Given the description of an element on the screen output the (x, y) to click on. 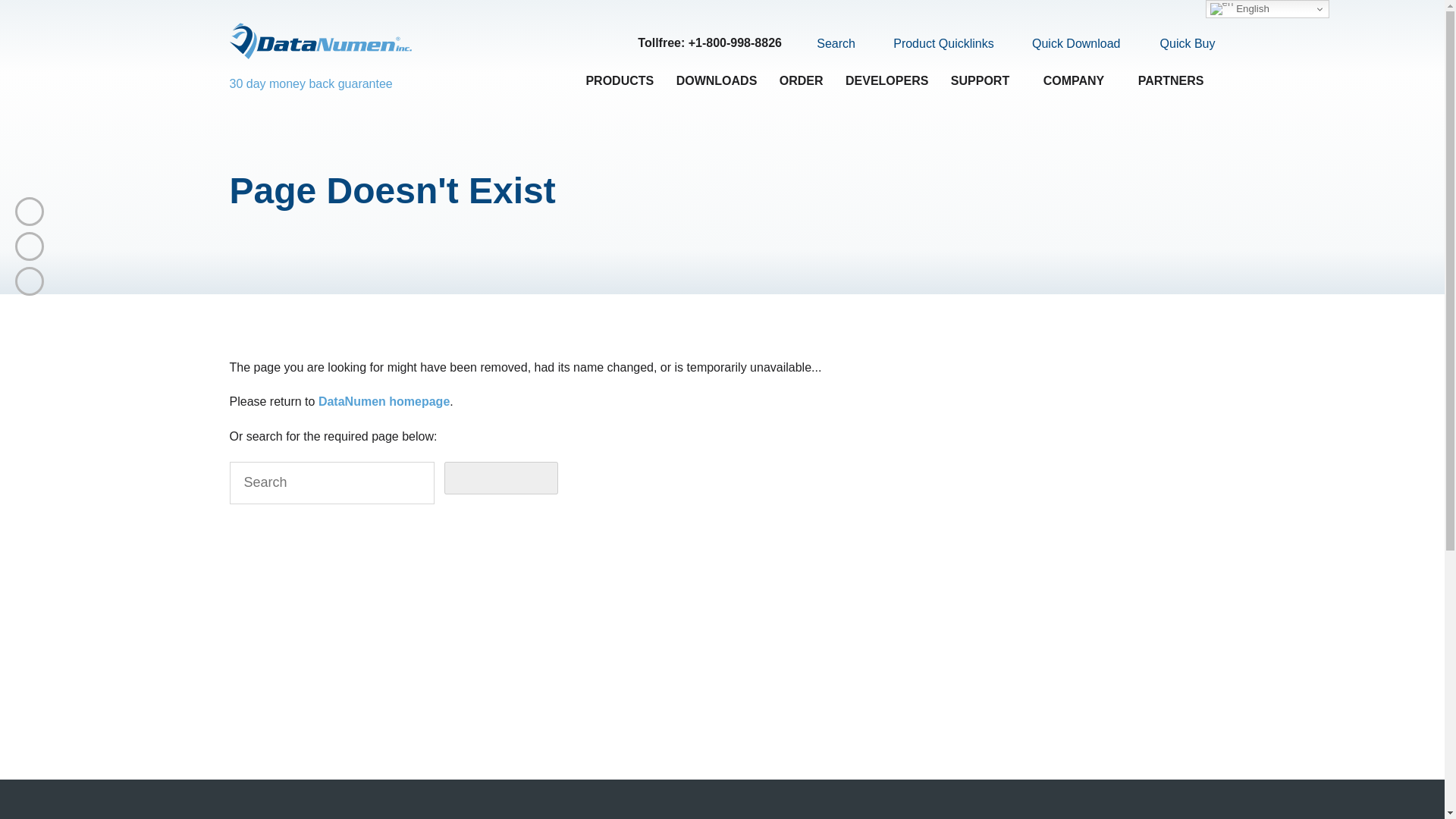
Quick Download (1066, 44)
Product Quicklinks (934, 44)
Search for: (330, 482)
Search (827, 43)
